Given the description of an element on the screen output the (x, y) to click on. 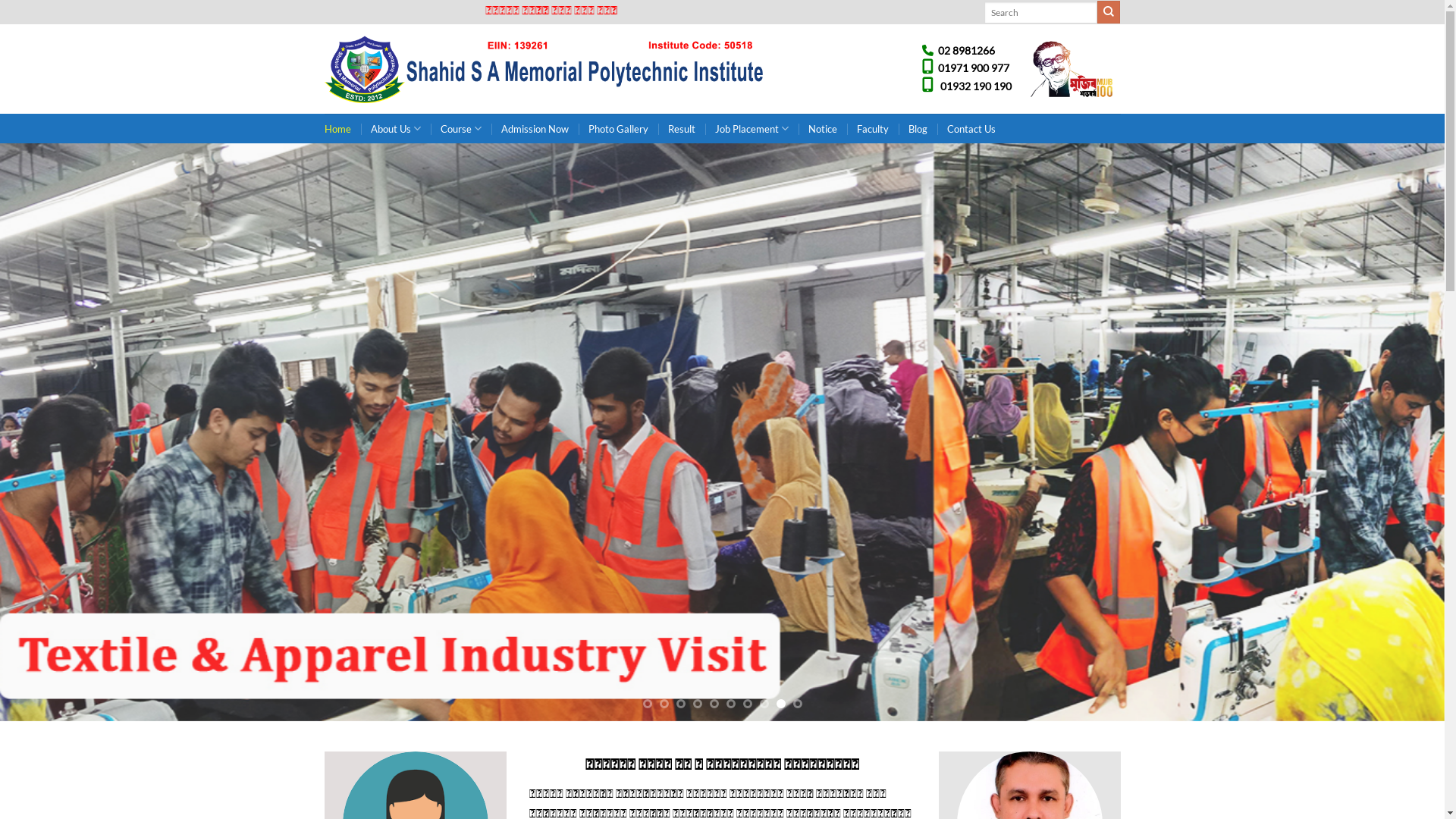
Job Placement Element type: text (751, 128)
Course Element type: text (460, 128)
Contact Us Element type: text (971, 128)
Notice Element type: text (822, 128)
About Us Element type: text (395, 128)
Home Element type: text (337, 128)
Blog Element type: text (917, 128)
Result Element type: text (681, 128)
Photo Gallery Element type: text (618, 128)
Faculty Element type: text (872, 128)
Admission Now Element type: text (534, 128)
